Given the description of an element on the screen output the (x, y) to click on. 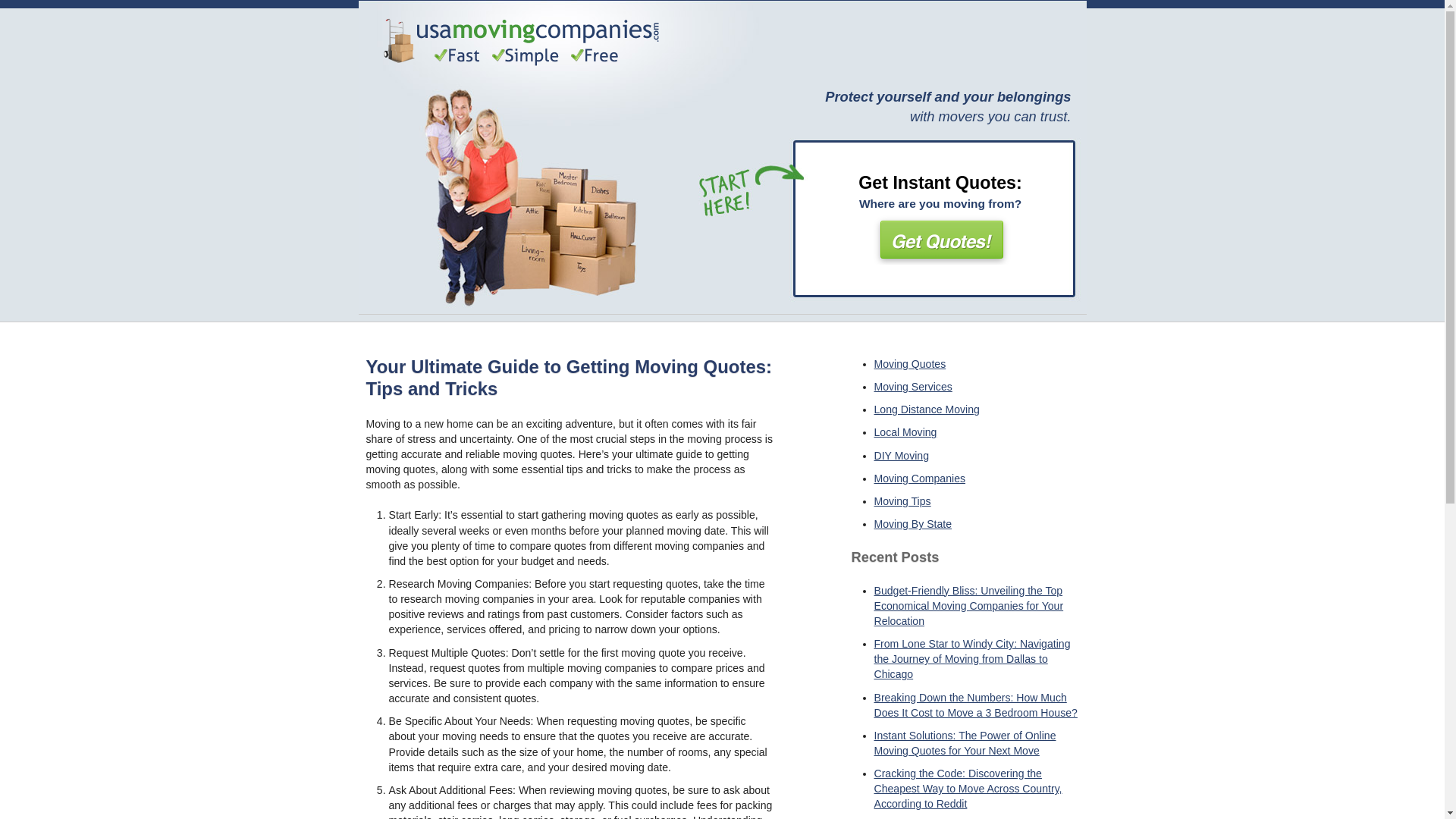
Get Quotes (939, 238)
Moving Tips (901, 500)
DIY Moving (900, 455)
Moving Companies (919, 478)
Long Distance Moving (925, 409)
Moving Quotes (908, 363)
Moving By State (912, 523)
Local Moving (904, 431)
Moving Services (912, 386)
